Given the description of an element on the screen output the (x, y) to click on. 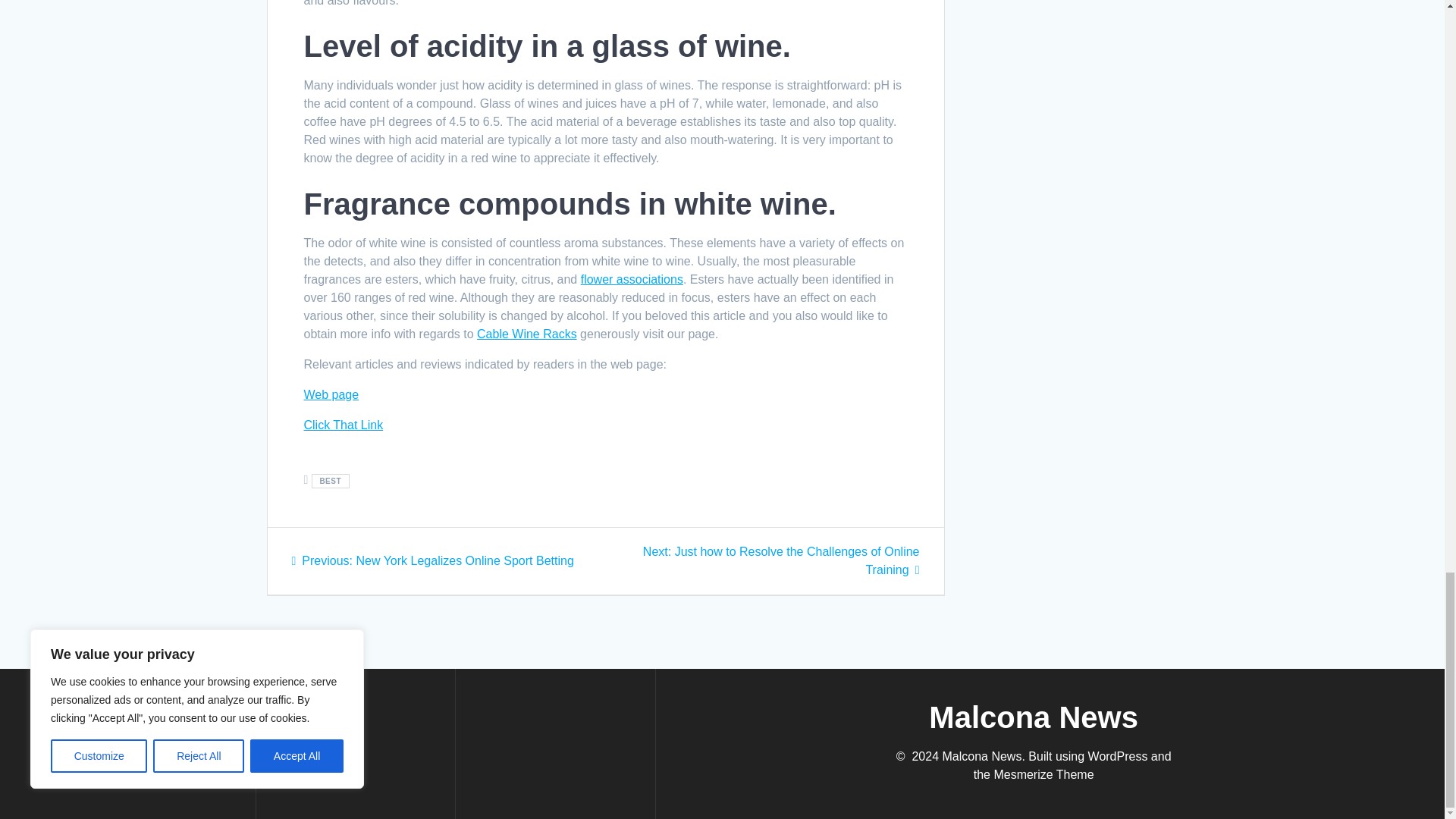
flower associations (631, 278)
BEST (330, 481)
Cable Wine Racks (526, 333)
Click That Link (342, 424)
Web page (330, 394)
